Given the description of an element on the screen output the (x, y) to click on. 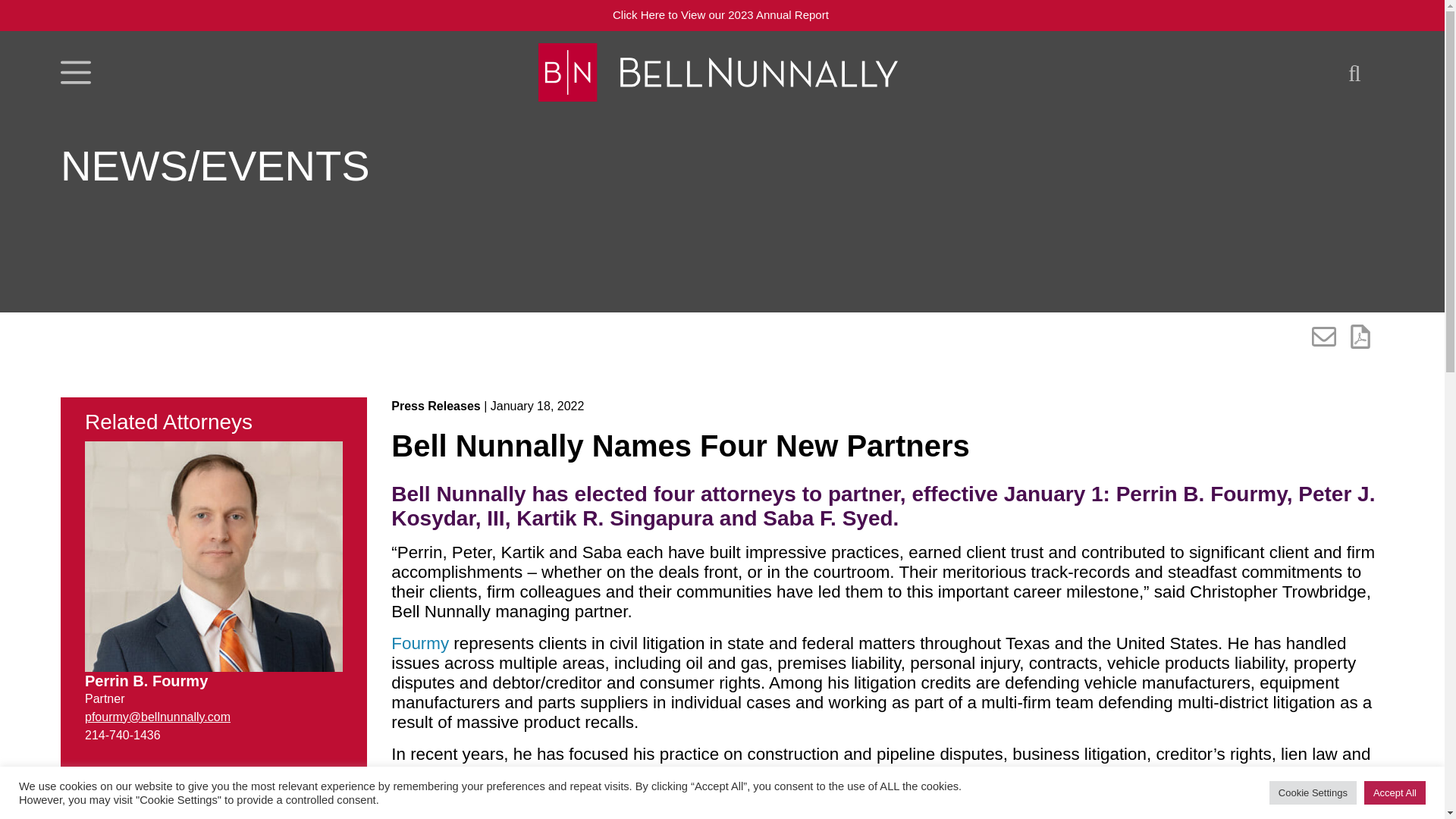
Print to PDF (1360, 336)
Email (157, 716)
Direct Phone (122, 735)
Fourmy (419, 642)
Cookie Settings (1312, 792)
214-740-1436 (122, 735)
Accept All (1394, 792)
Share this page (1323, 336)
